Given the description of an element on the screen output the (x, y) to click on. 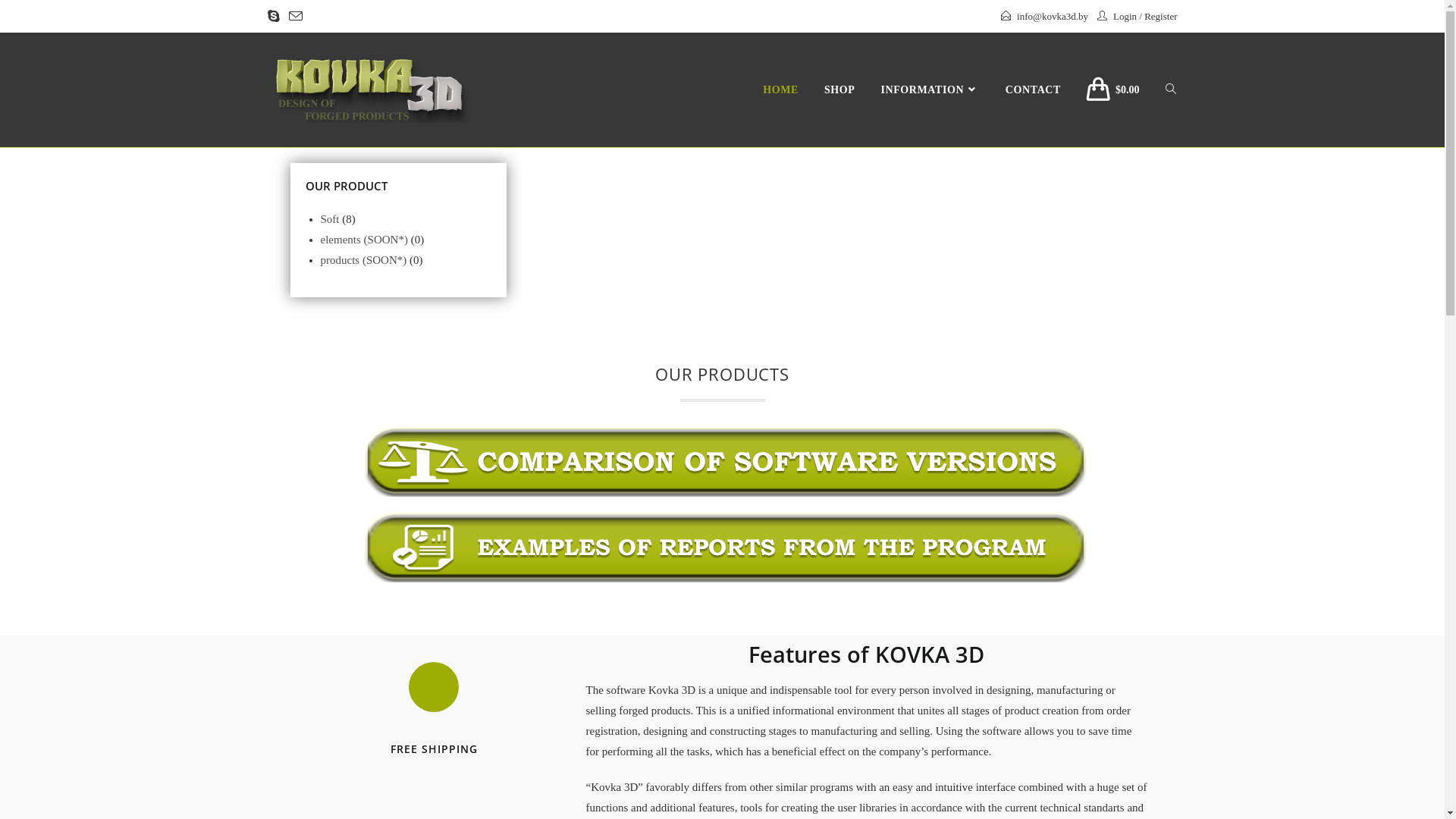
products (SOON*) Element type: text (363, 260)
INFORMATION Element type: text (929, 90)
HOME Element type: text (780, 90)
$0.00 Element type: text (1112, 90)
SHOP Element type: text (839, 90)
Soft Element type: text (329, 219)
elements (SOON*) Element type: text (363, 239)
Register Element type: text (1160, 15)
Login Element type: text (1124, 15)
CONTACT Element type: text (1032, 90)
info@kovka3d.by Element type: text (1052, 15)
